Given the description of an element on the screen output the (x, y) to click on. 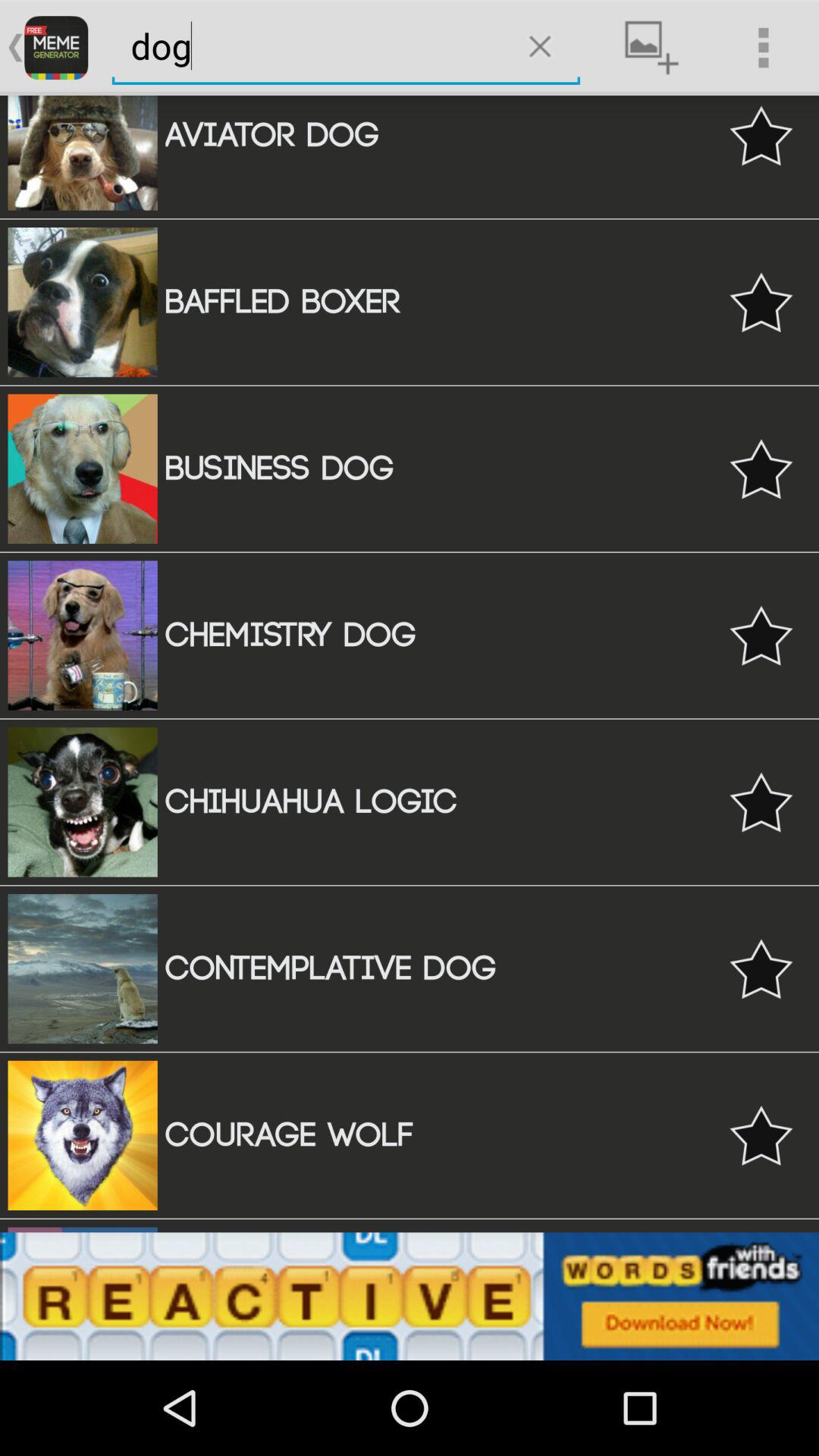
select the fifth star on web page (761, 801)
click on the fourth image from the top of the web page (83, 635)
select the second image on the top left corner of the web page (83, 302)
select the 4th star icon from the center of the web page (761, 635)
click on text field (308, 45)
select text next to text left arrow (55, 48)
